Given the description of an element on the screen output the (x, y) to click on. 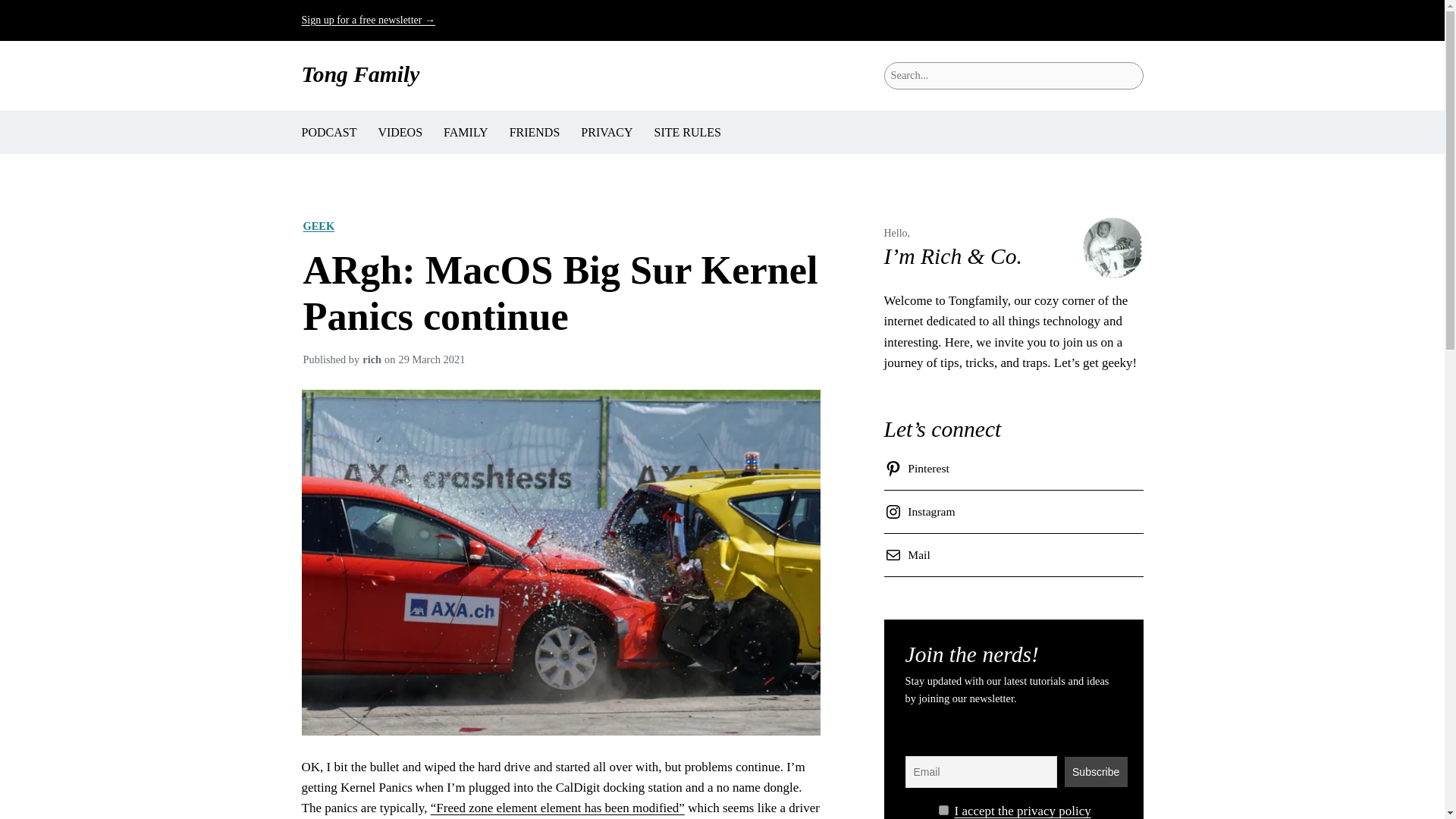
GEEK (318, 225)
ARgh: MacOS Big Sur Kernel Panics continue (560, 293)
VIDEOS (399, 132)
on (944, 809)
Instagram (921, 511)
FRIENDS (534, 132)
Subscribe (1095, 771)
FAMILY (465, 132)
Pinterest (919, 468)
29 March 2021 (430, 358)
SITE RULES (686, 132)
Subscribe (1095, 771)
I accept the privacy policy (1021, 810)
Tong Family (360, 74)
PODCAST (328, 132)
